Given the description of an element on the screen output the (x, y) to click on. 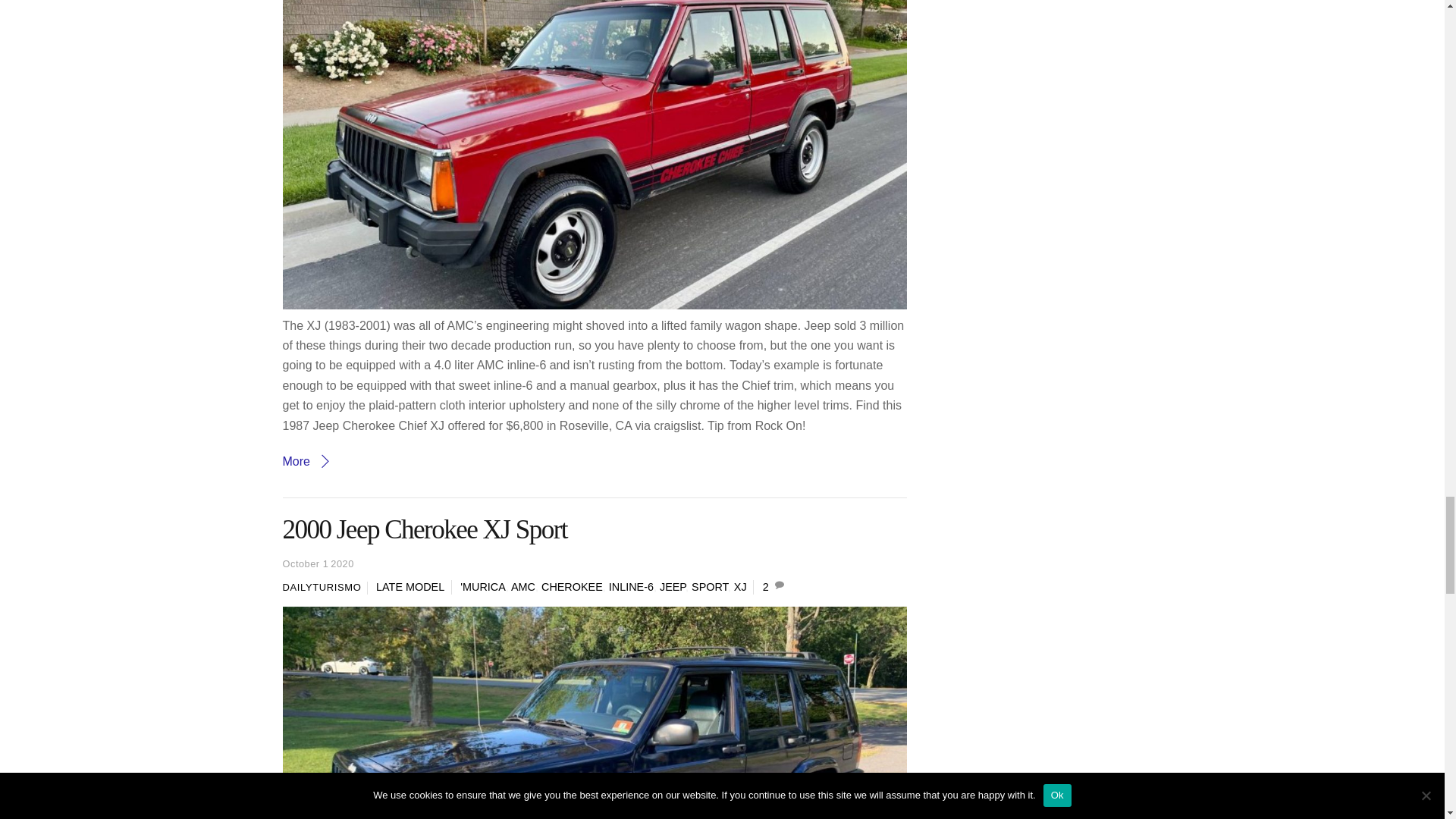
1-72 (594, 712)
